Given the description of an element on the screen output the (x, y) to click on. 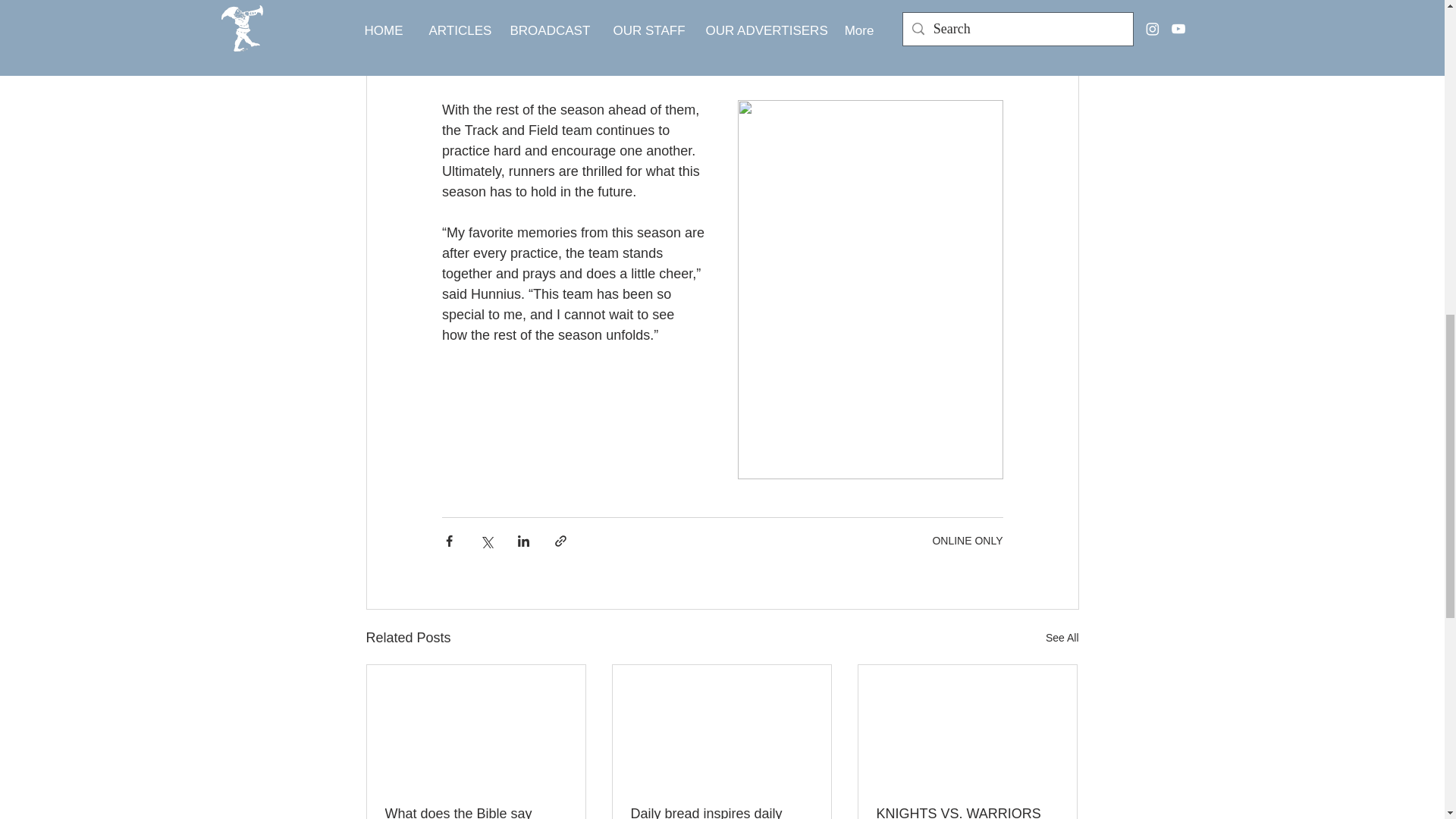
ONLINE ONLY (967, 539)
What does the Bible say about the sanctity of human life? (476, 812)
KNIGHTS VS. WARRIORS (967, 812)
See All (1061, 638)
Daily bread inspires daily trust in miracle-providing God (721, 812)
